Given the description of an element on the screen output the (x, y) to click on. 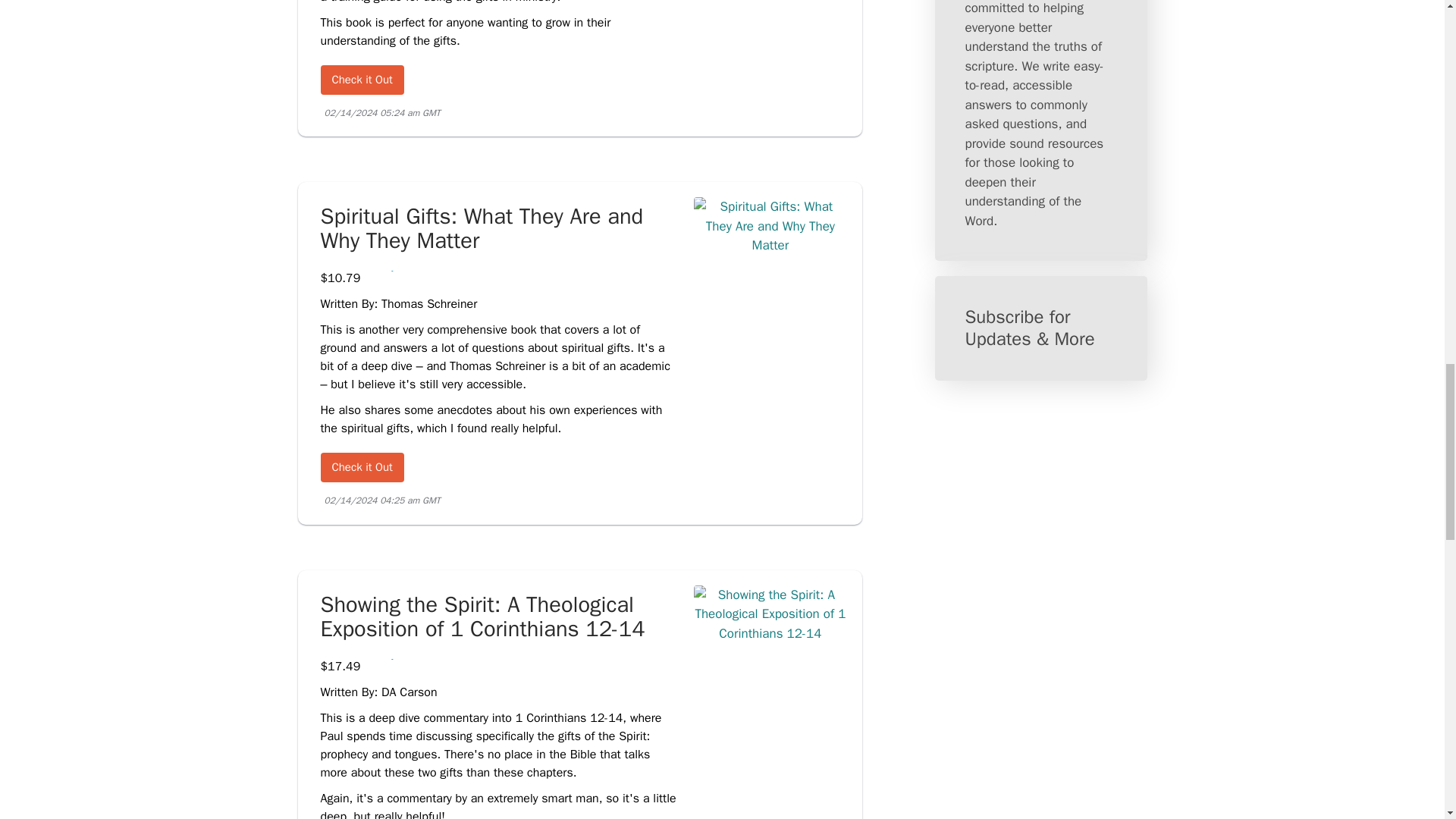
Spiritual Gifts: What They Are and Why They Matter (499, 228)
Check it Out (361, 467)
Check it Out (361, 80)
